Given the description of an element on the screen output the (x, y) to click on. 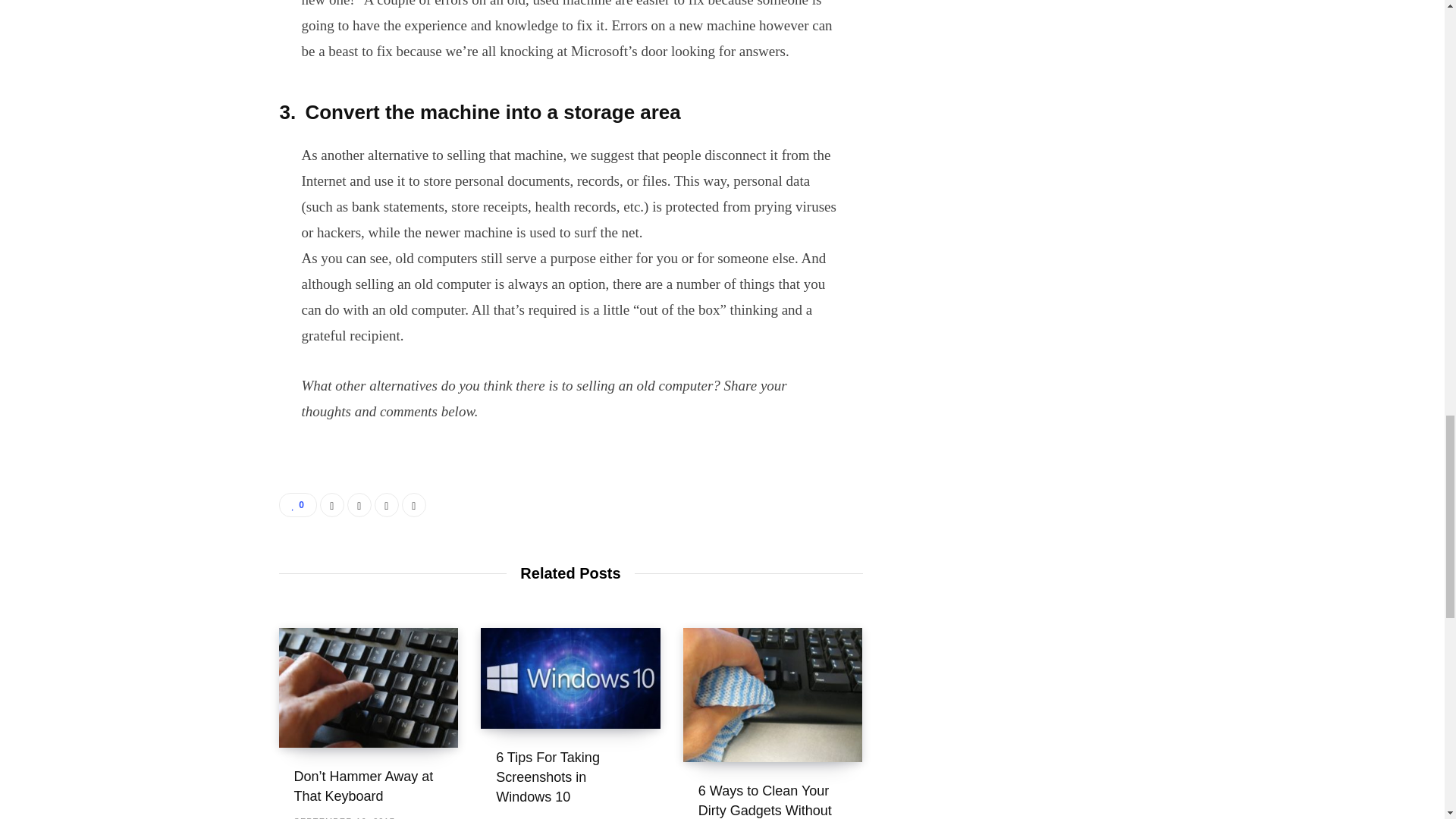
0 (298, 504)
6 Tips For Taking Screenshots in Windows 10 (547, 777)
Facebook (331, 504)
